Given the description of an element on the screen output the (x, y) to click on. 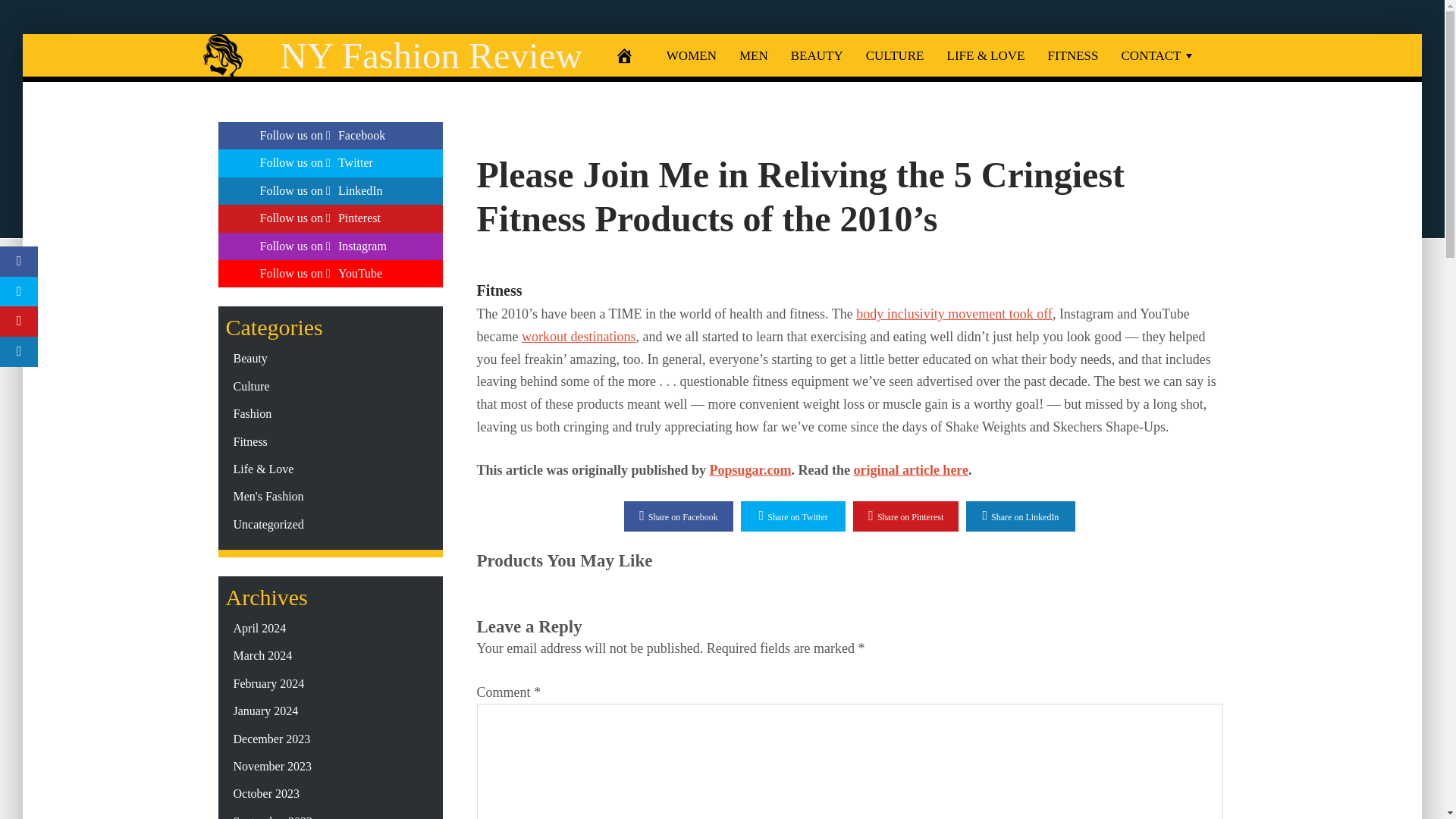
Fitness (498, 289)
WOMEN (691, 55)
NY Fashion Review (431, 55)
FITNESS (1072, 55)
CONTACT (1158, 55)
Fitness (498, 289)
CULTURE (895, 55)
MEN (753, 55)
BEAUTY (816, 55)
